Given the description of an element on the screen output the (x, y) to click on. 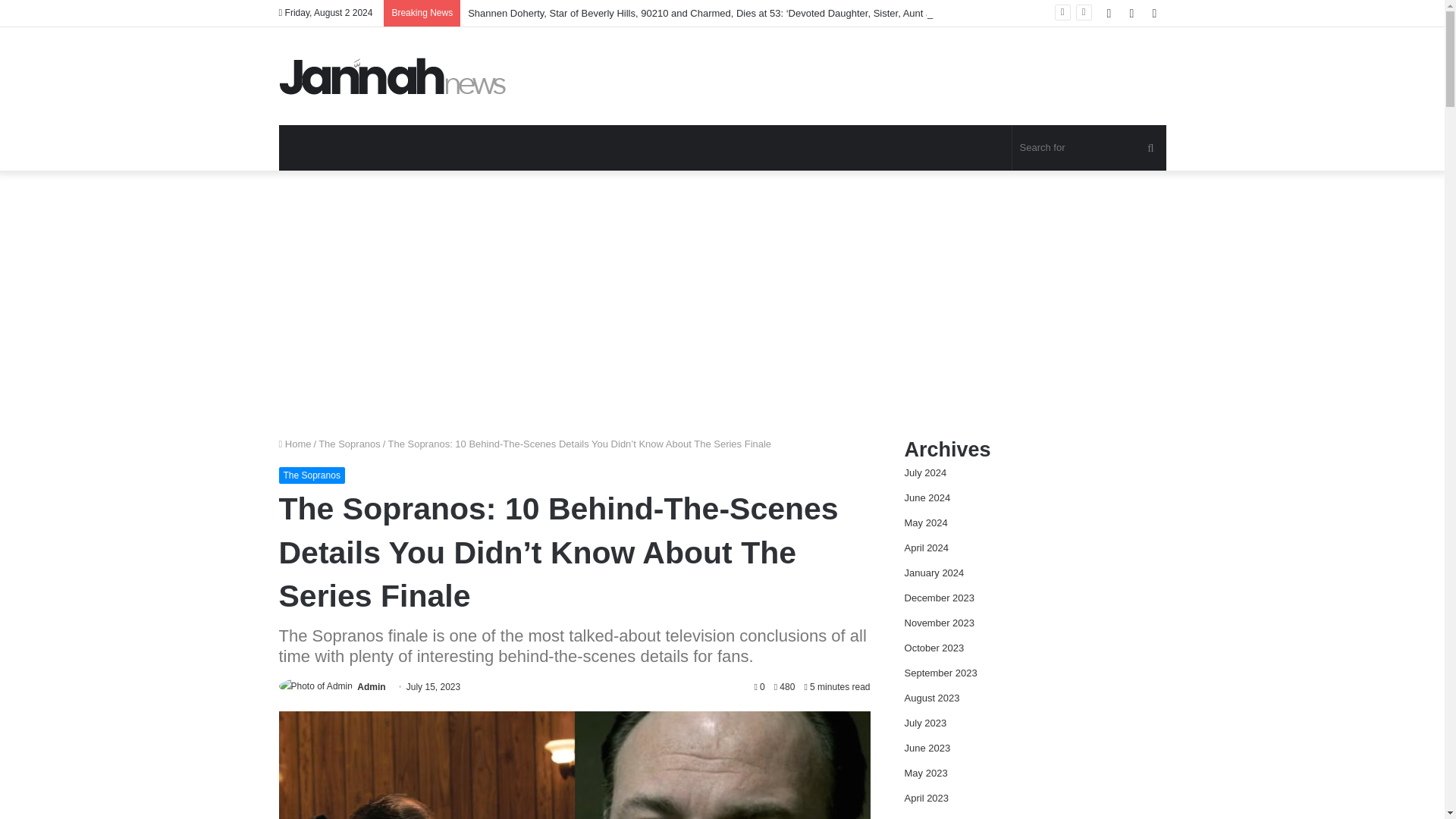
Admin (370, 686)
The Sopranos (349, 443)
Search for (1088, 147)
Movie News (392, 76)
Admin (370, 686)
The Sopranos (312, 475)
Home (295, 443)
